Given the description of an element on the screen output the (x, y) to click on. 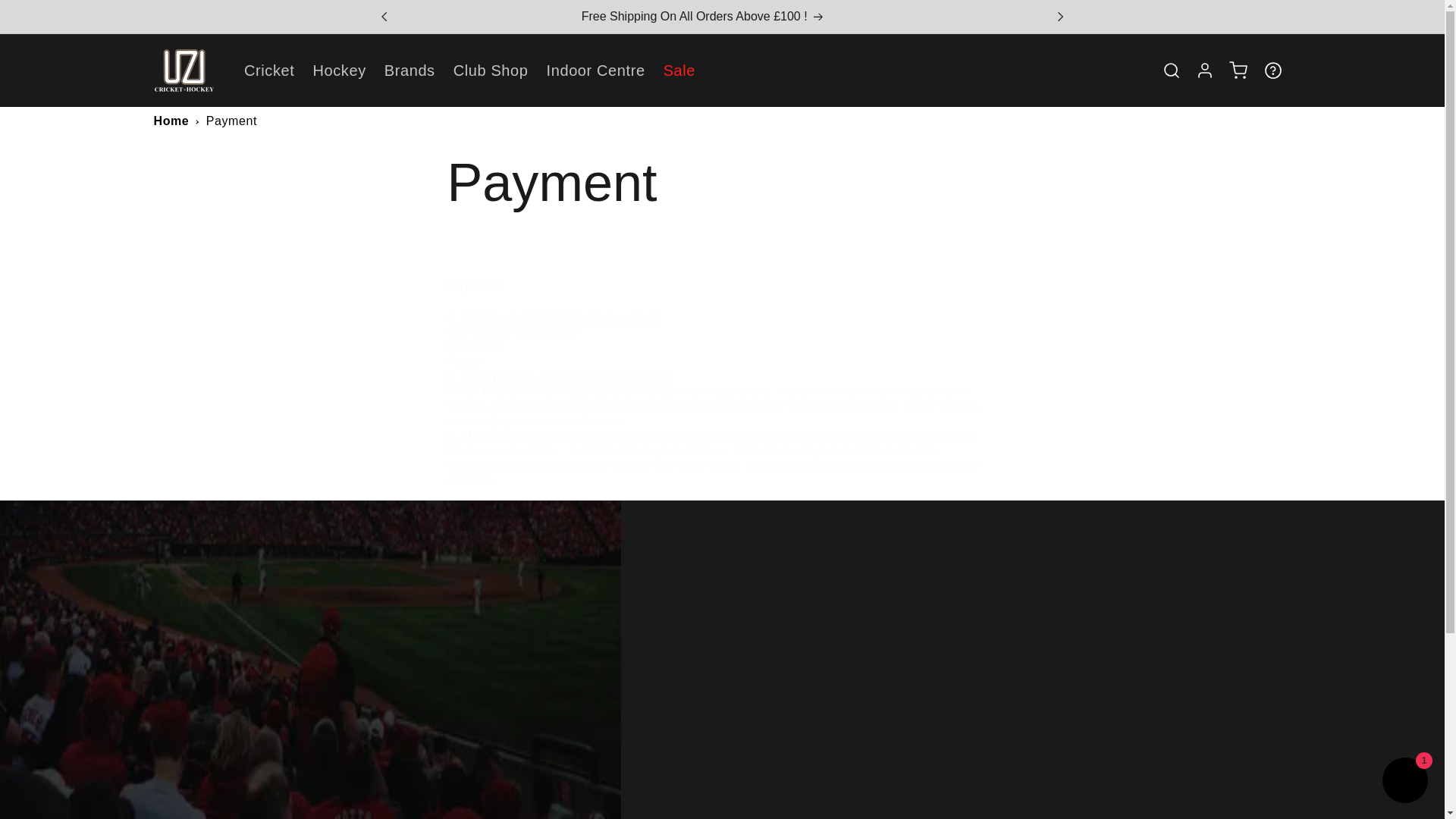
Payment (721, 182)
Shopify online store chat (380, 784)
Skip To Content (1404, 781)
